Given the description of an element on the screen output the (x, y) to click on. 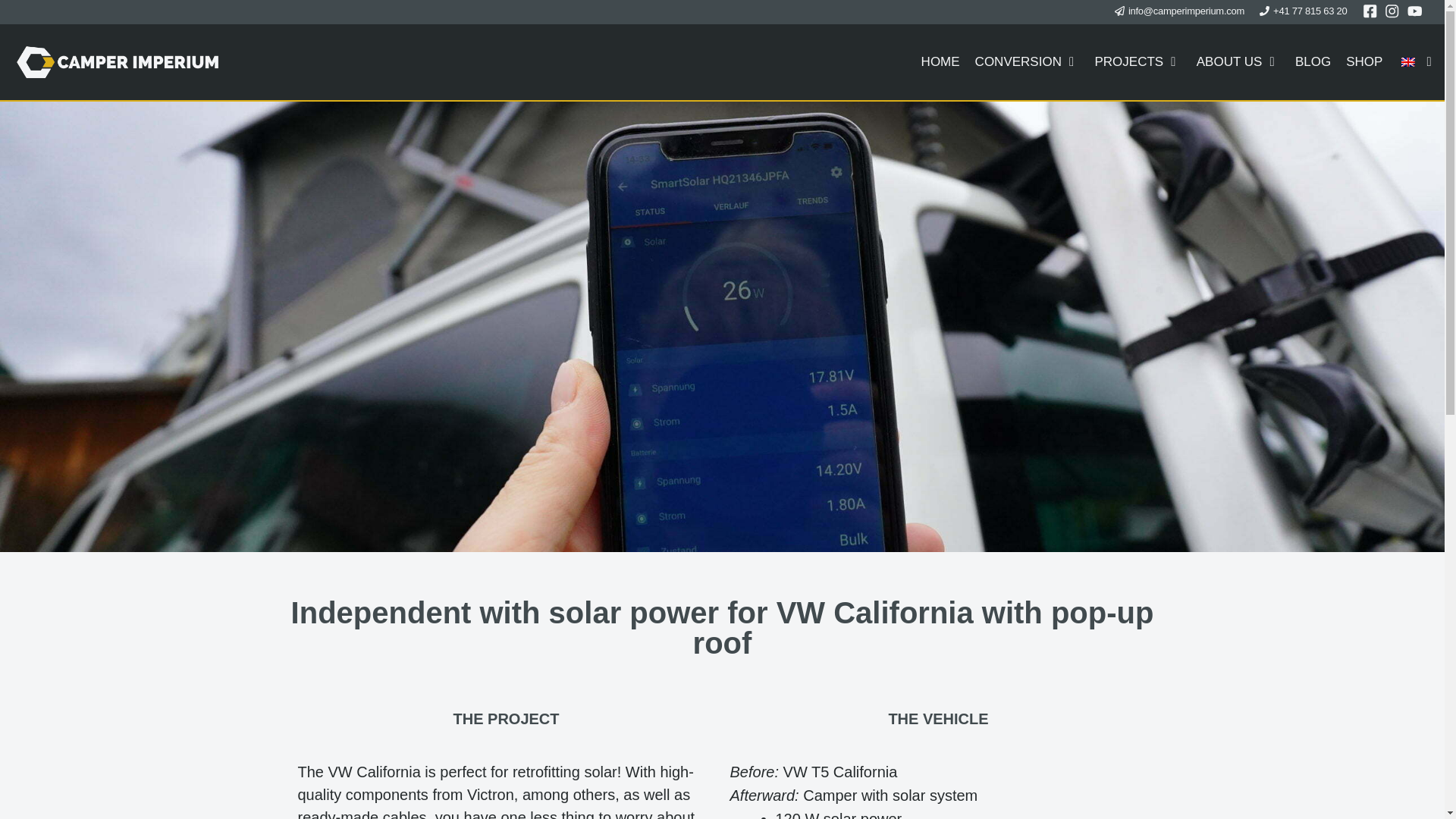
Camper Imperium (117, 61)
Camper Imperium (120, 61)
PROJECTS (1138, 61)
ABOUT US (1238, 61)
CONVERSION (1027, 61)
